Given the description of an element on the screen output the (x, y) to click on. 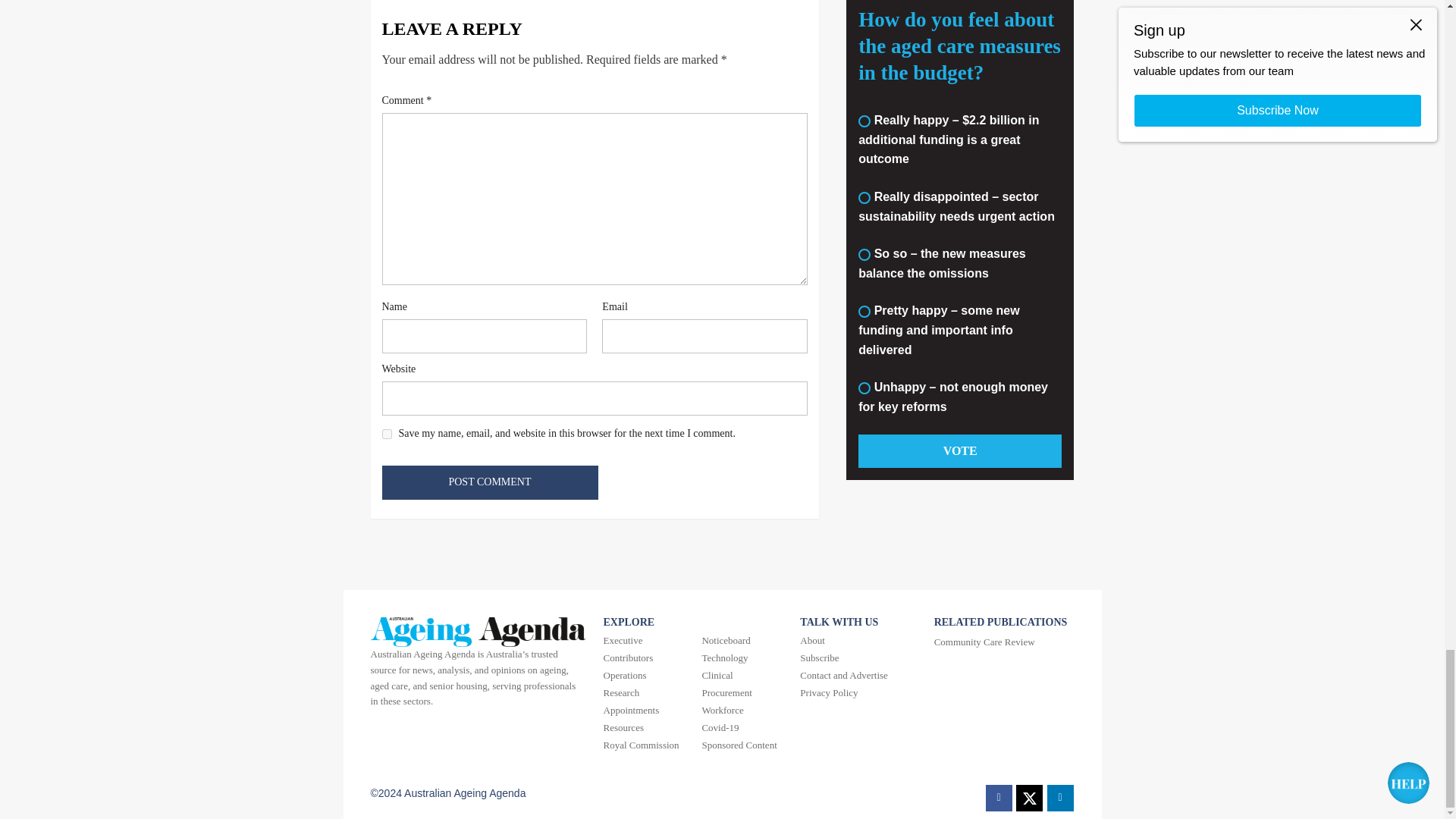
yes (386, 433)
Post Comment (489, 482)
